Given the description of an element on the screen output the (x, y) to click on. 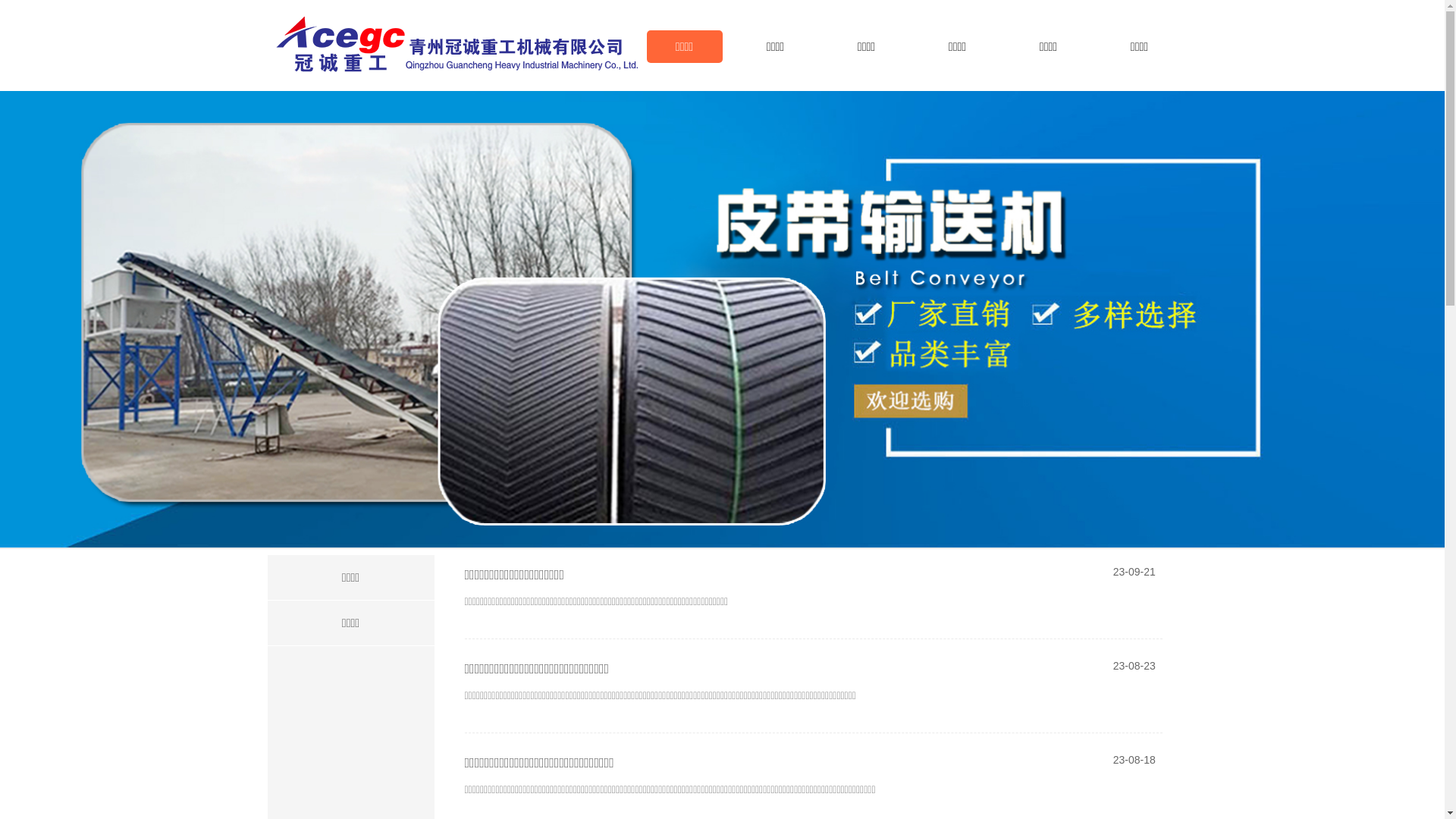
23-09-21 Element type: text (1073, 574)
23-08-18 Element type: text (1073, 762)
23-08-23 Element type: text (1073, 668)
